Given the description of an element on the screen output the (x, y) to click on. 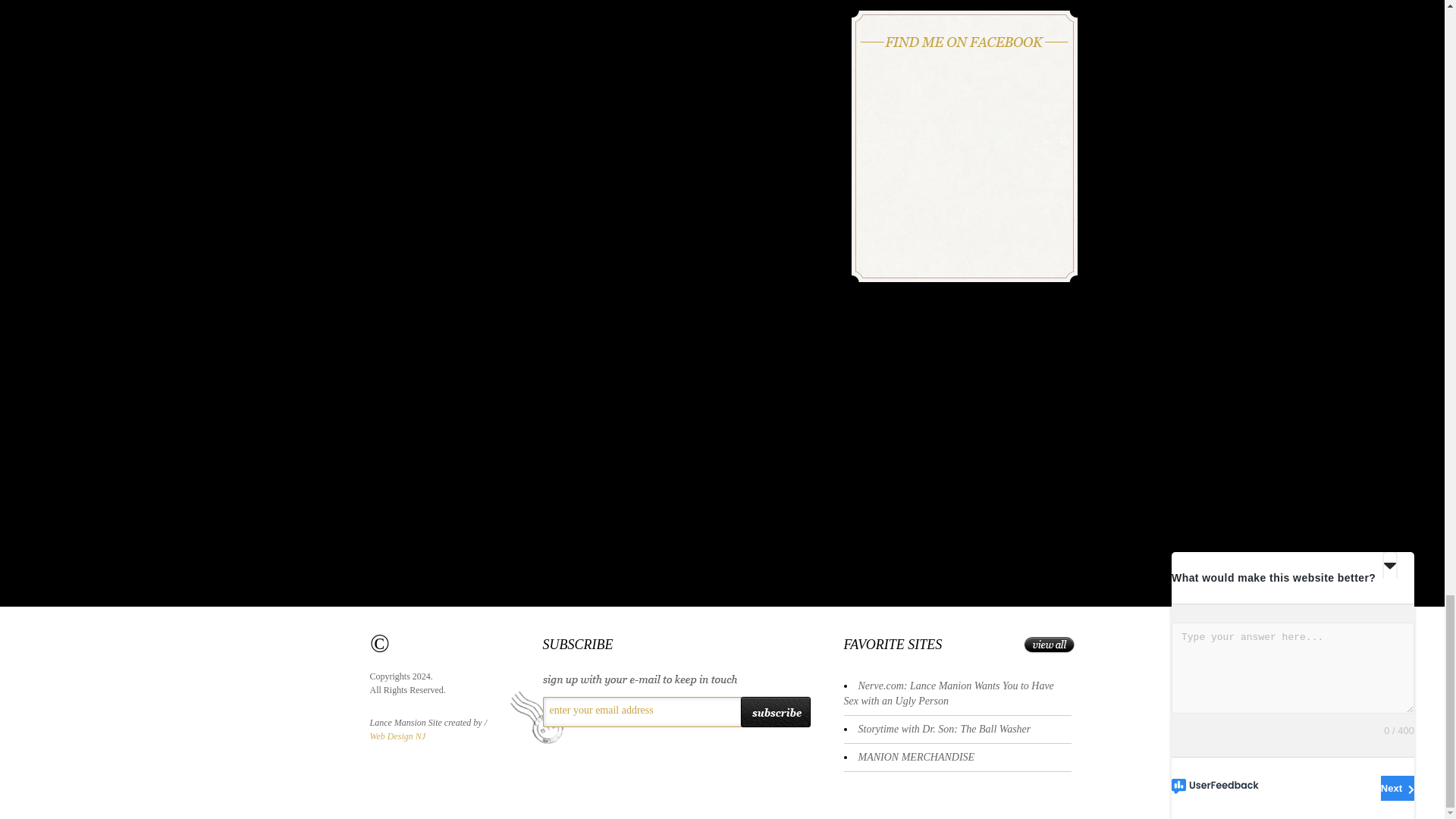
very funny article (947, 693)
A great reading of The Ball Washer (944, 728)
enter your email address (639, 710)
